Given the description of an element on the screen output the (x, y) to click on. 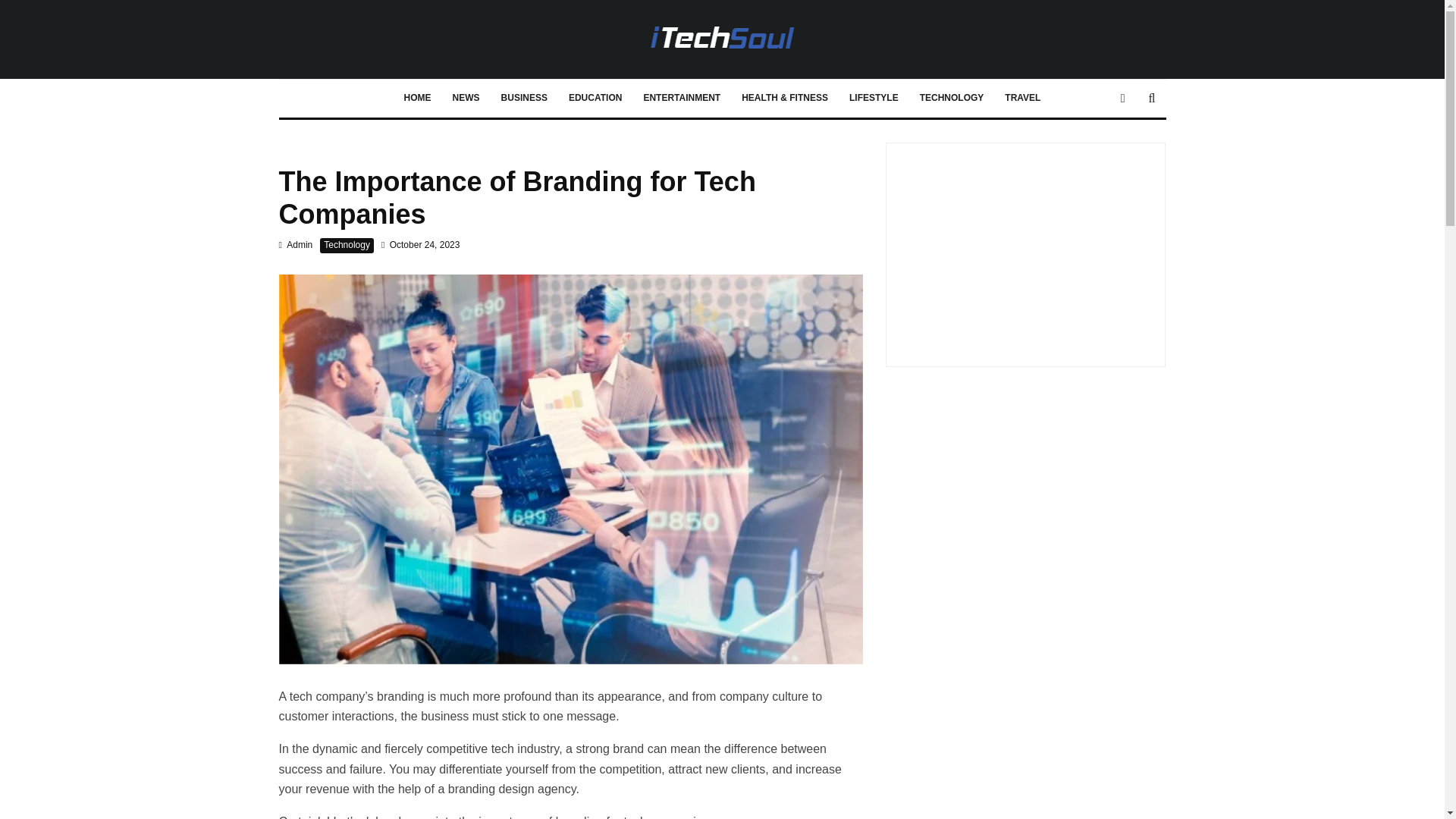
Advertisement (1024, 248)
EDUCATION (594, 98)
HOME (417, 98)
NEWS (466, 98)
ENTERTAINMENT (680, 98)
BUSINESS (523, 98)
